Given the description of an element on the screen output the (x, y) to click on. 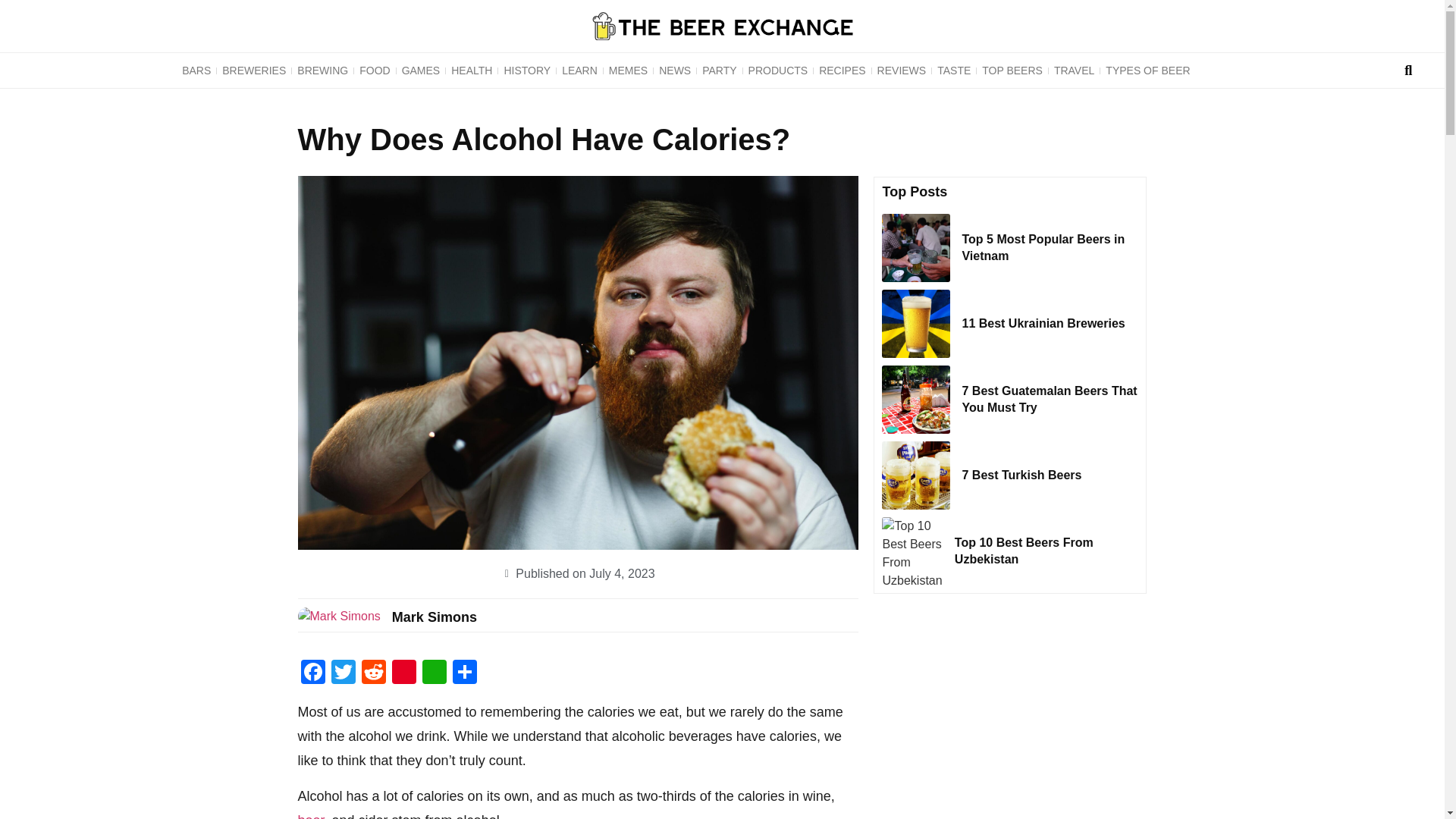
BREWERIES (253, 70)
TRAVEL (1073, 70)
TYPES OF BEER (1147, 70)
GAMES (420, 70)
WhatsApp (433, 673)
FOOD (373, 70)
HISTORY (526, 70)
BARS (195, 70)
Reddit (373, 673)
BREWING (322, 70)
PRODUCTS (777, 70)
LEARN (579, 70)
HEALTH (471, 70)
RECIPES (841, 70)
TOP BEERS (1012, 70)
